Given the description of an element on the screen output the (x, y) to click on. 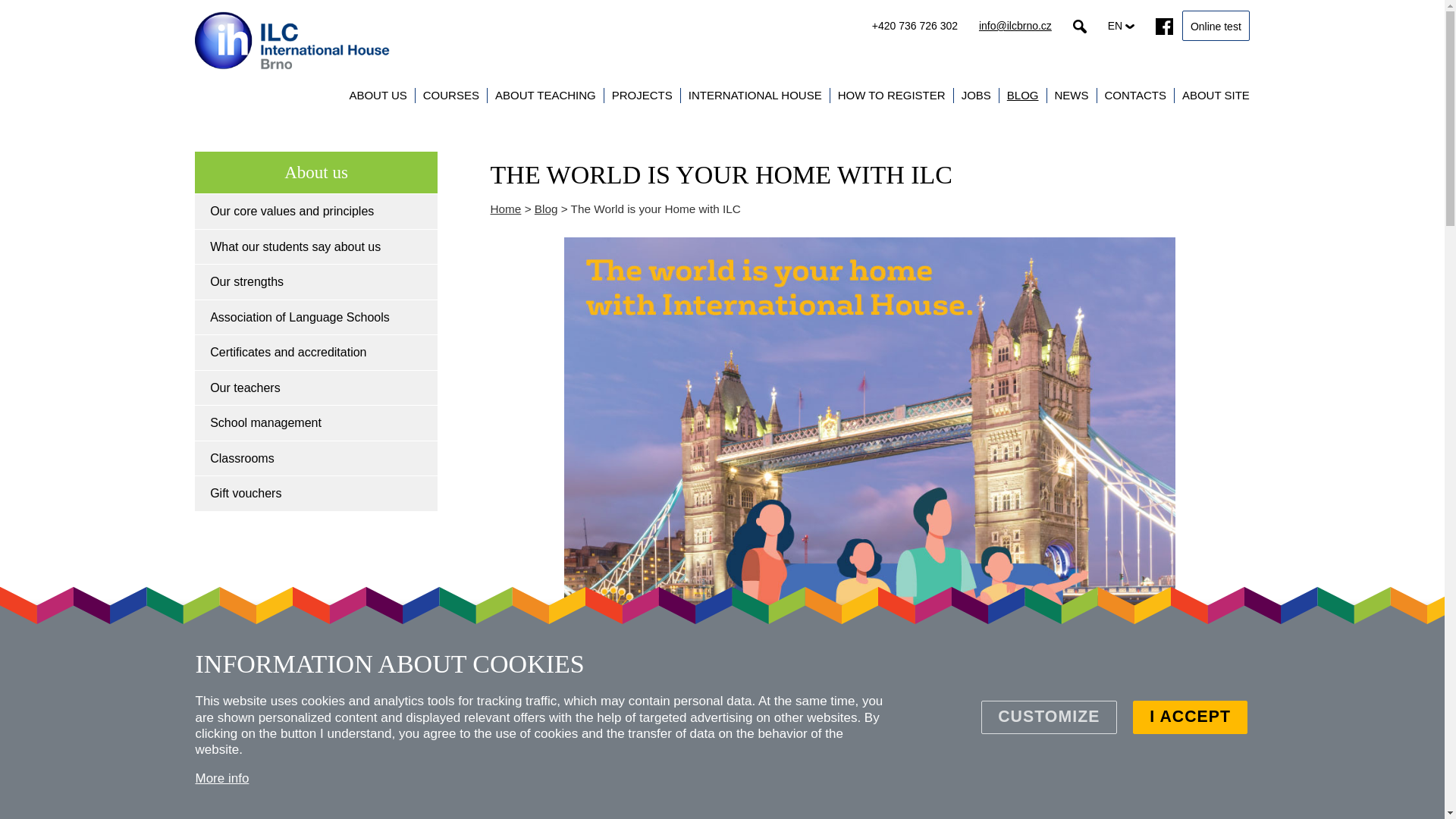
NEWS (1070, 93)
Association of Language Schools (315, 317)
Courses for Adults (270, 96)
School management (315, 422)
BLOG (1023, 93)
ABOUT SITE (1215, 93)
CHILDREN AND TEENAGERS (451, 96)
News (1070, 93)
About us (377, 93)
CONTACTS (1134, 93)
